Given the description of an element on the screen output the (x, y) to click on. 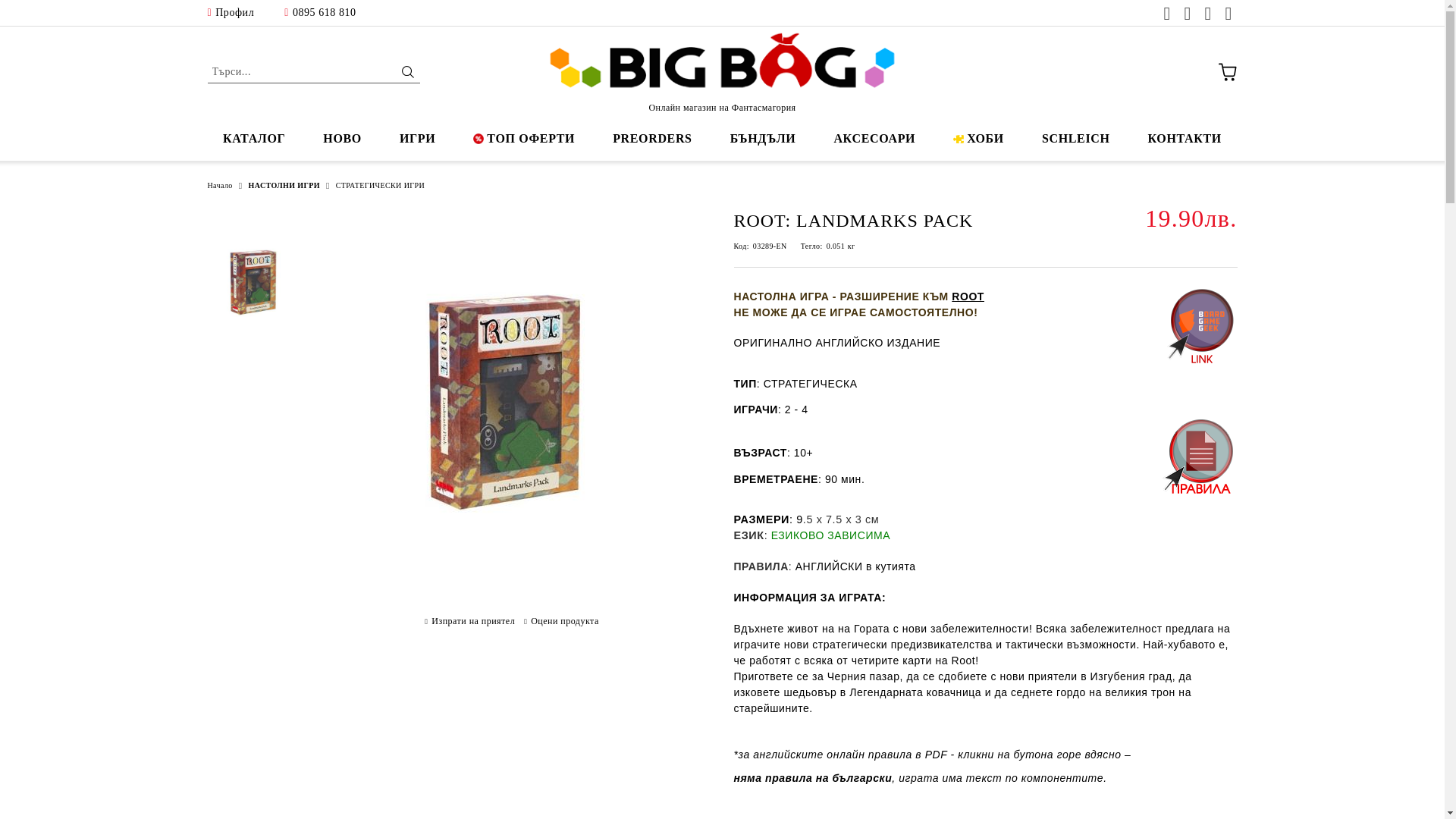
0895 618 810 (319, 12)
